Given the description of an element on the screen output the (x, y) to click on. 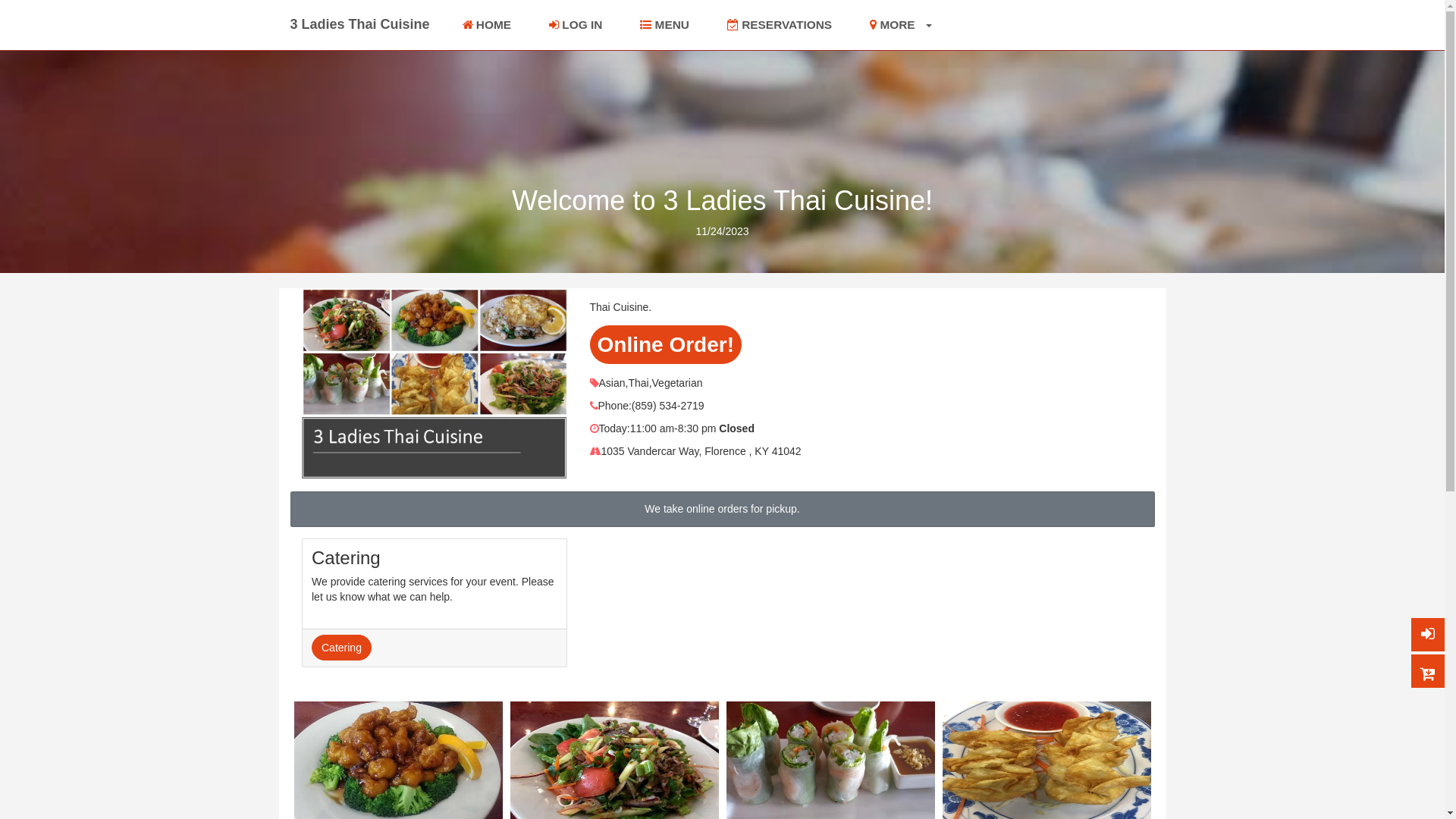
RESERVATIONS Element type: text (779, 25)
MENU Element type: text (664, 25)
3 Ladies Thai Cuisine Element type: text (359, 23)
Online Order! Element type: text (665, 344)
MORE Element type: text (900, 25)
LOG IN Element type: text (575, 25)
HOME Element type: text (486, 25)
Catering Element type: text (341, 647)
